Given the description of an element on the screen output the (x, y) to click on. 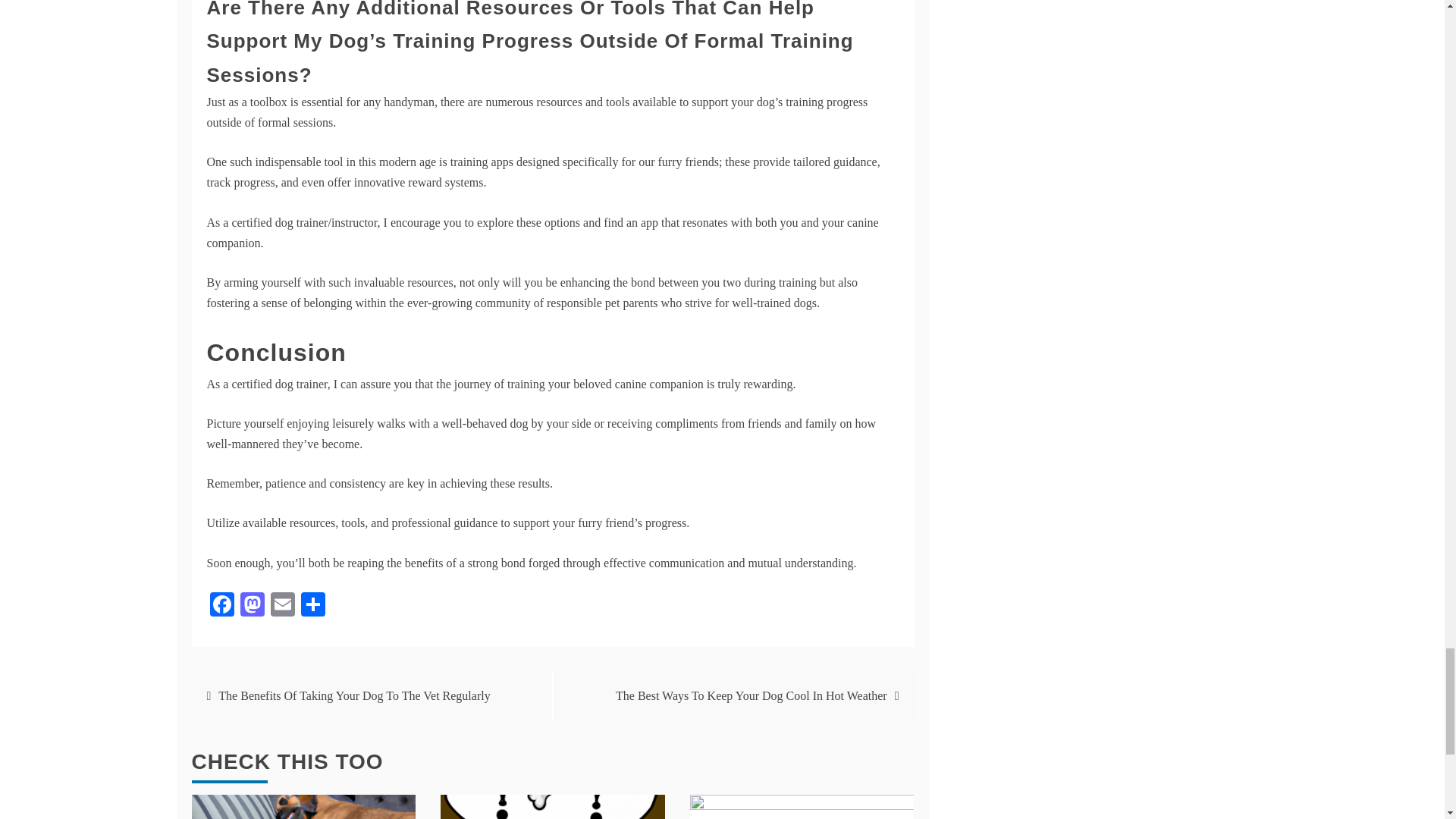
Email (281, 605)
Mastodon (250, 605)
The Best Ways To Keep Your Dog Cool In Hot Weather (750, 695)
Mastodon (250, 605)
The Benefits Of Taking Your Dog To The Vet Regularly (353, 695)
Email (281, 605)
Facebook (220, 605)
Facebook (220, 605)
